Given the description of an element on the screen output the (x, y) to click on. 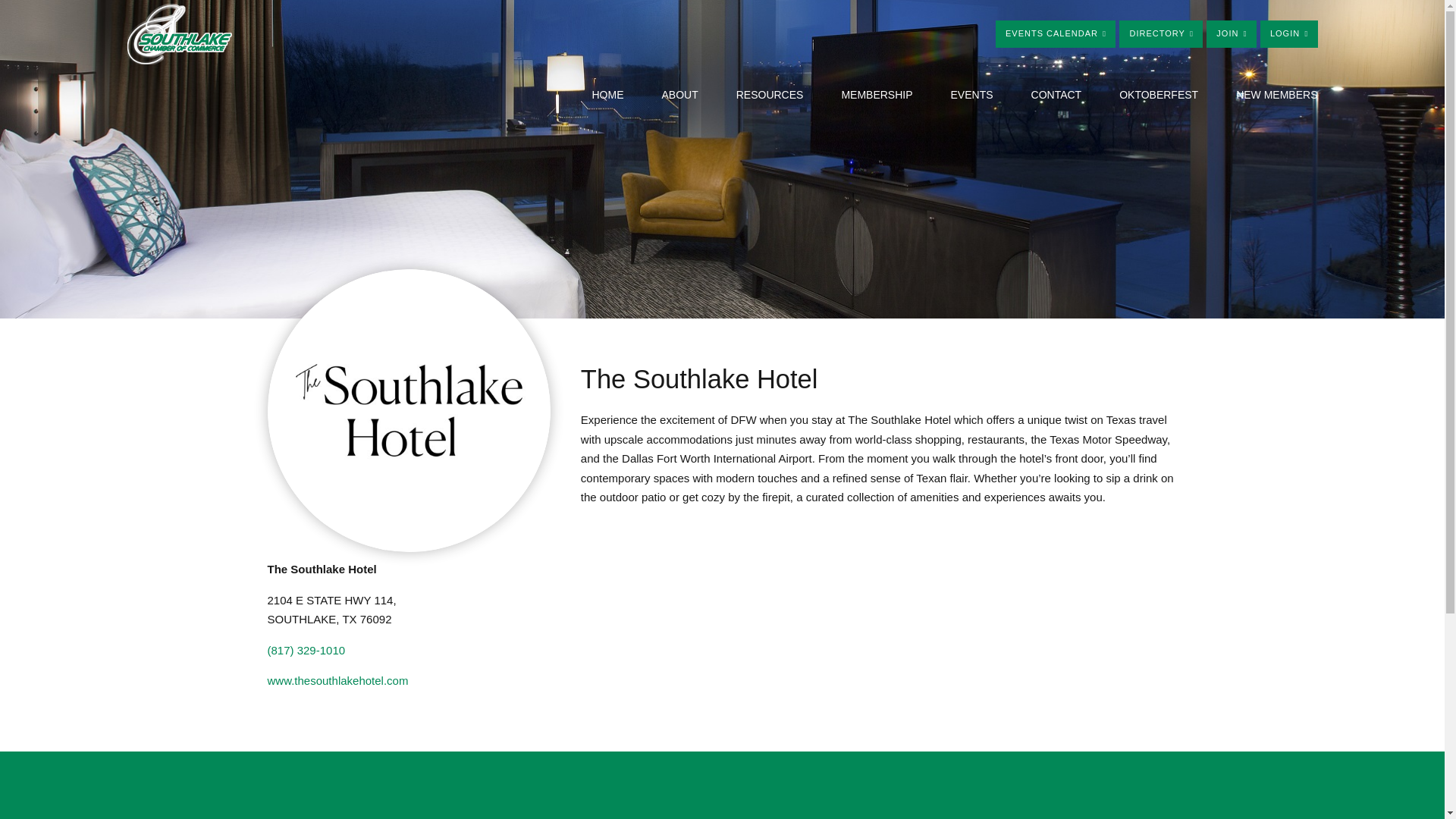
EVENTS CALENDAR (1055, 33)
RESOURCES (769, 94)
LOGIN (1288, 33)
DIRECTORY (1160, 33)
NEW MEMBERS (1276, 94)
JOIN (1231, 33)
OKTOBERFEST (1158, 94)
MEMBERSHIP (876, 94)
the-southlake-hotel-logo (408, 410)
